Given the description of an element on the screen output the (x, y) to click on. 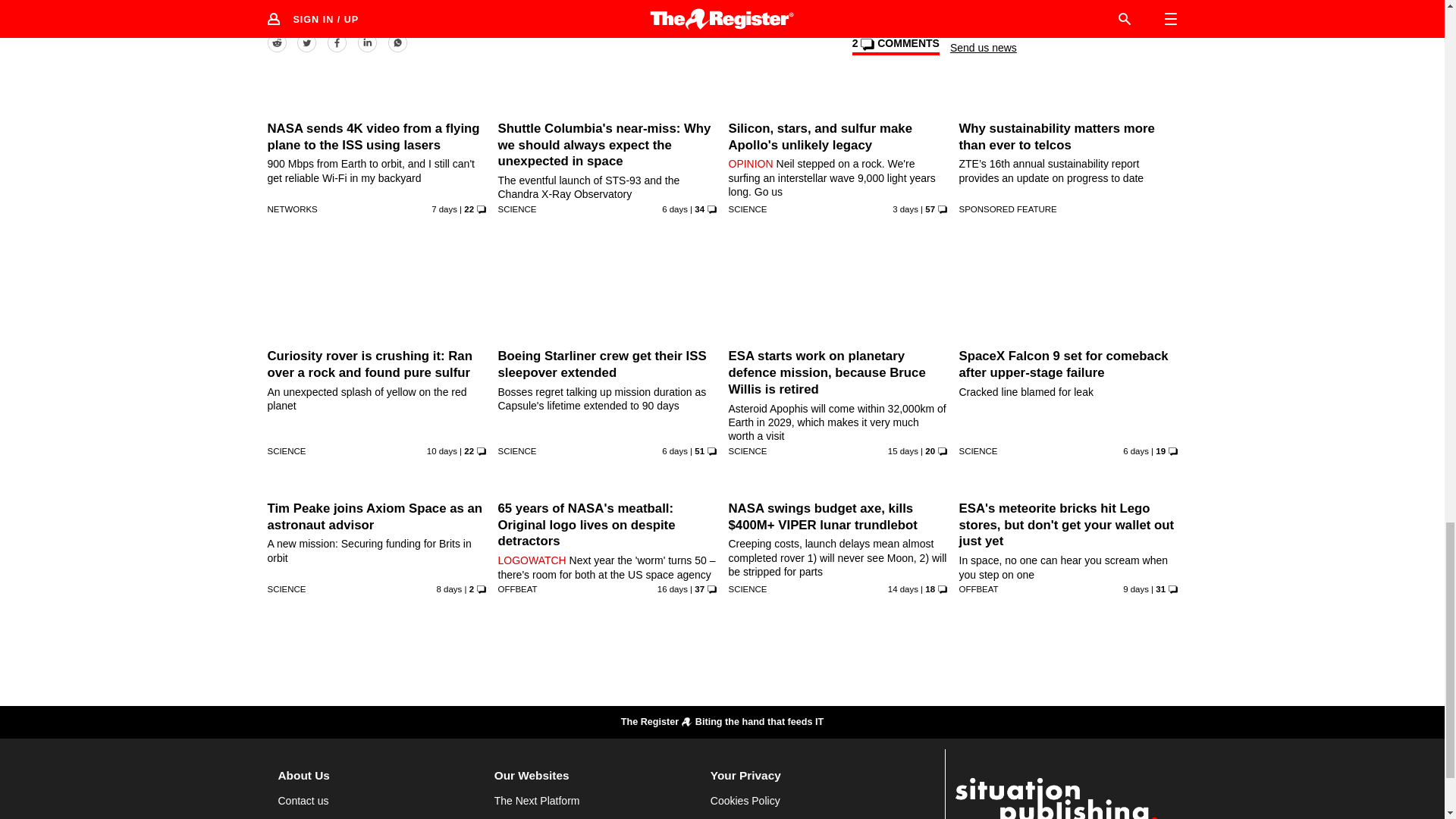
29 Jul 2024 8:35 (905, 208)
26 Jul 2024 9:33 (674, 208)
25 Jul 2024 19:2 (443, 208)
View comments on this article (895, 45)
